Given the description of an element on the screen output the (x, y) to click on. 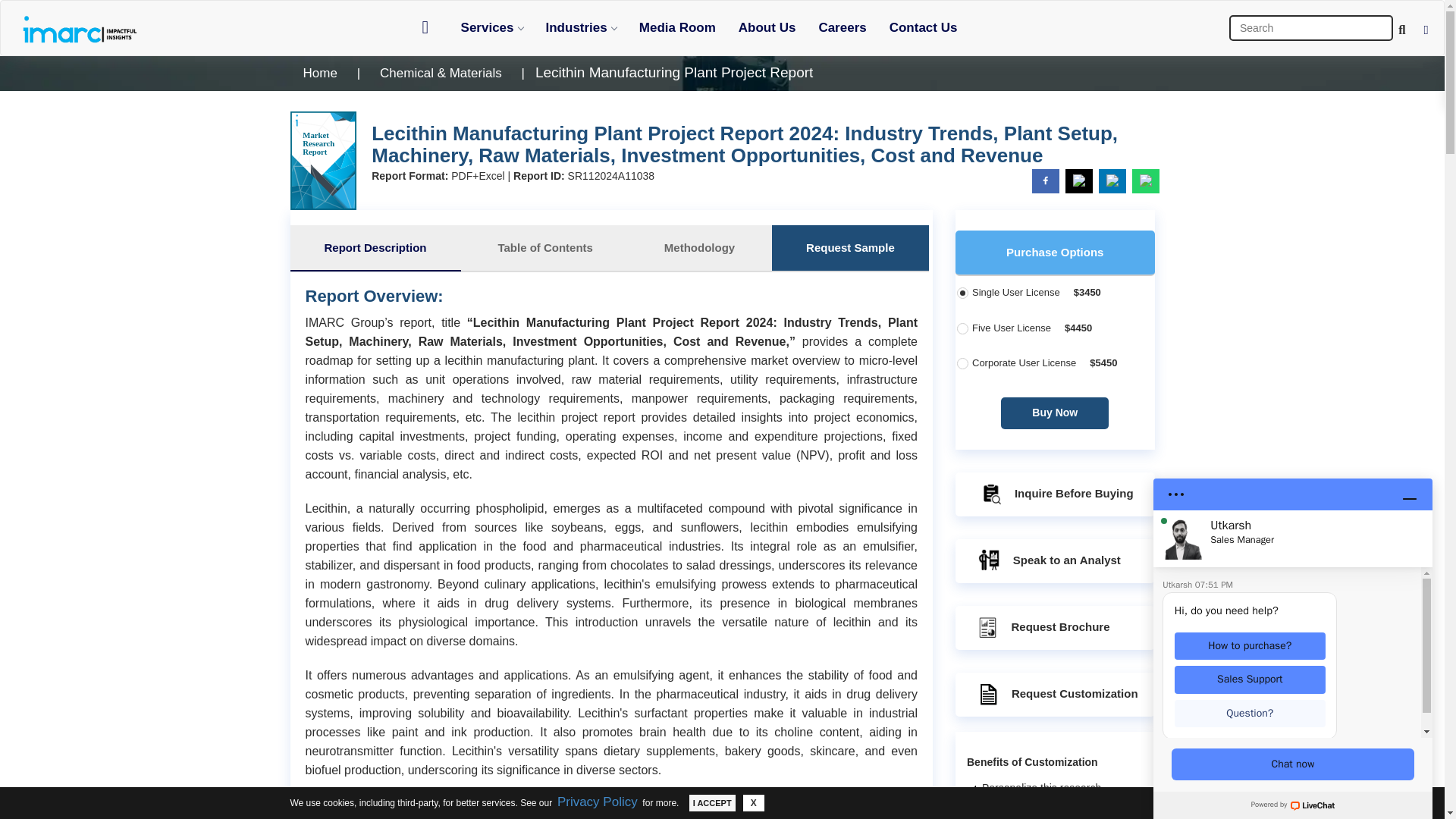
About Us (767, 27)
Industries (580, 27)
Services (491, 27)
Contact Us (923, 27)
Careers (841, 27)
Media Room (676, 27)
